Given the description of an element on the screen output the (x, y) to click on. 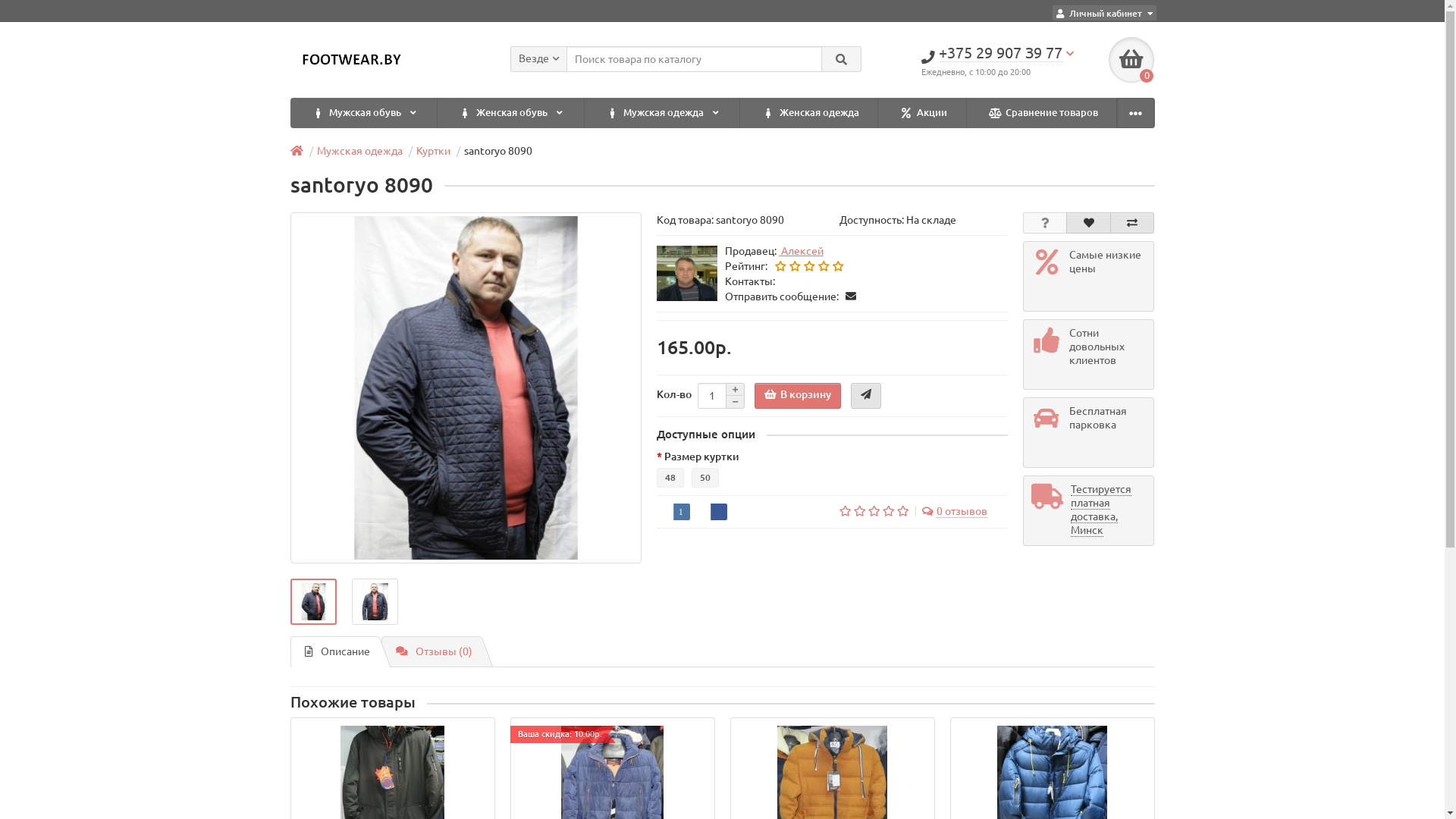
santoryo 8090 Element type: hover (312, 601)
santoryo 8090 Element type: hover (374, 601)
SINZOLE 659 Element type: hover (832, 732)
santoryo 8090 Element type: hover (465, 387)
0 Element type: text (1131, 59)
santoryo 8090 Element type: hover (464, 387)
TALIFECK 191 Element type: hover (1052, 732)
